Given the description of an element on the screen output the (x, y) to click on. 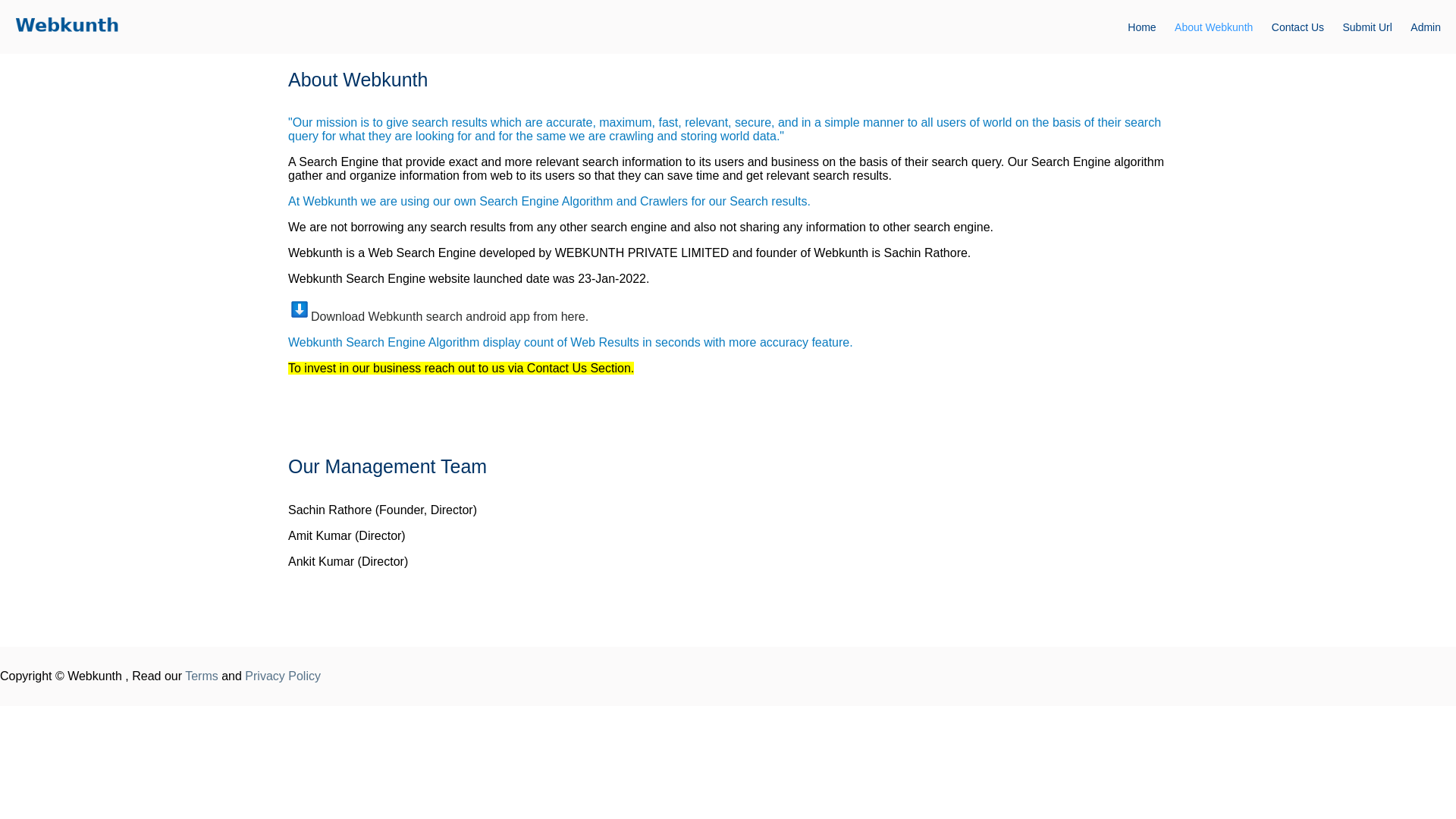
Contact Us (1305, 27)
About Webkunth (1221, 27)
Home (1148, 27)
Submit Url (1374, 27)
Terms (202, 675)
Privacy Policy (282, 675)
Download Webkunth search android app from here. (449, 316)
